Given the description of an element on the screen output the (x, y) to click on. 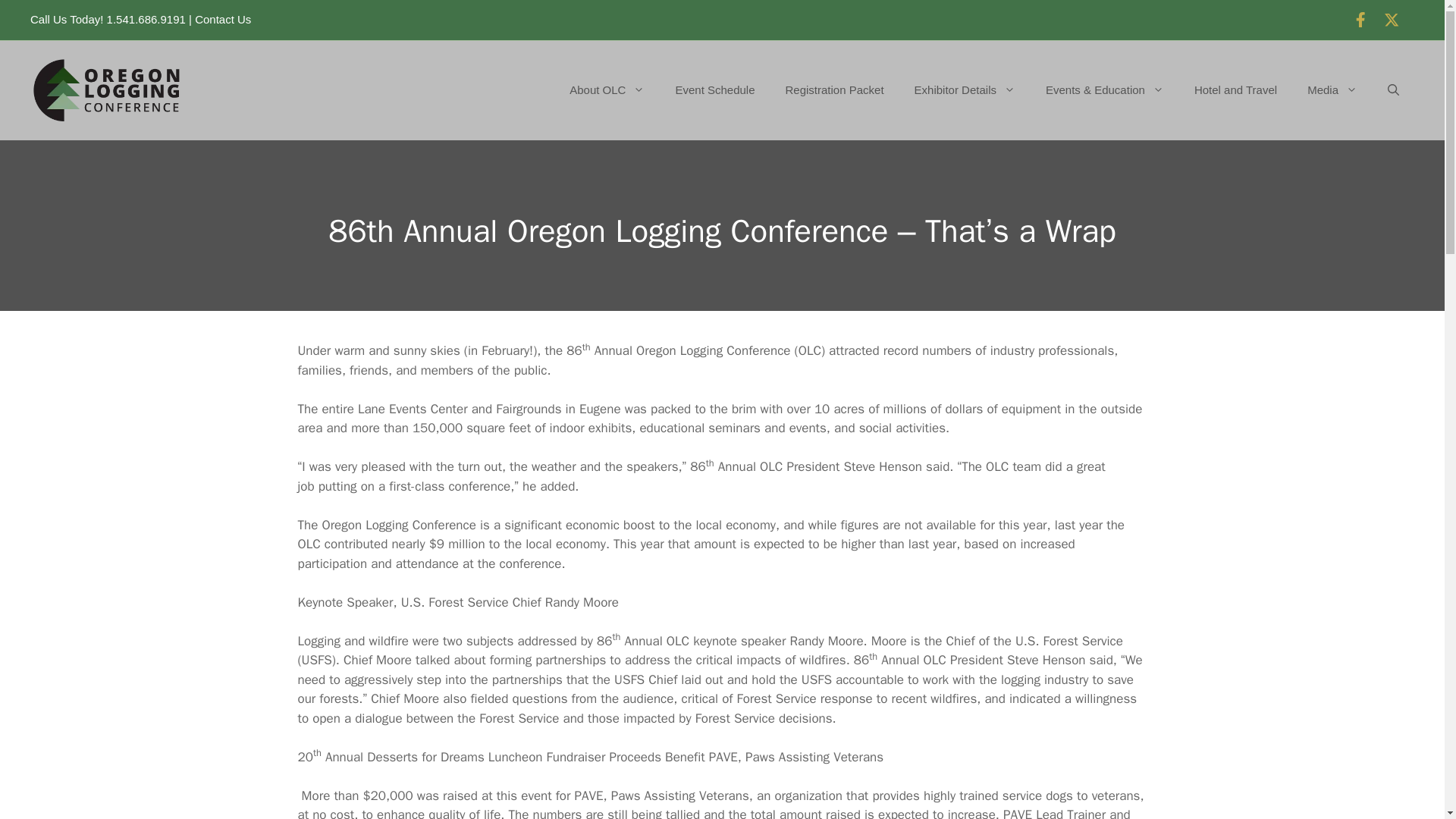
Exhibitor Details (964, 90)
About OLC (606, 90)
Media (1332, 90)
Registration Packet (834, 90)
1.541.686.9191 (146, 19)
Event Schedule (714, 90)
Hotel and Travel (1235, 90)
Contact Us (222, 19)
